Given the description of an element on the screen output the (x, y) to click on. 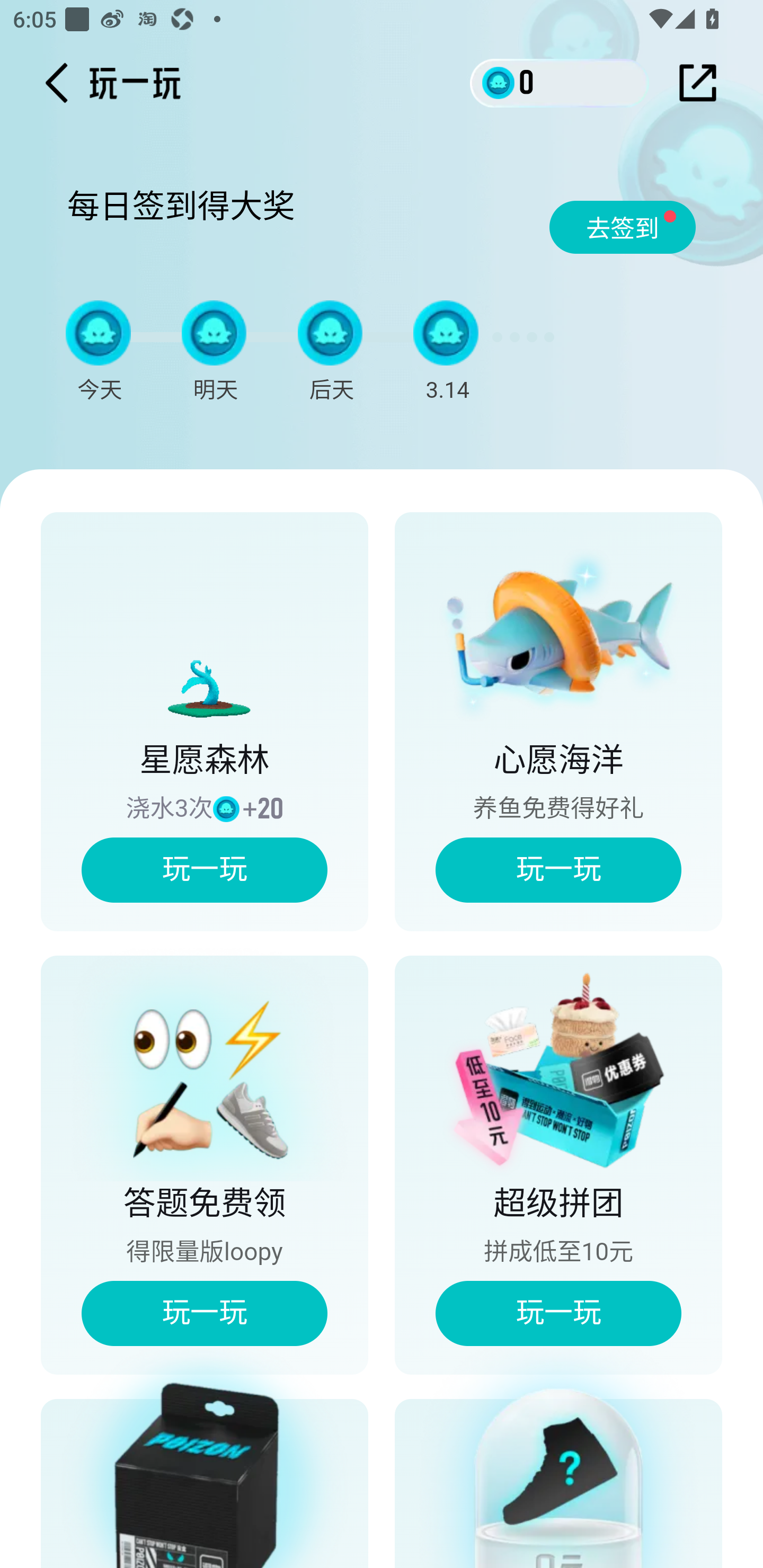
0 (559, 82)
